Given the description of an element on the screen output the (x, y) to click on. 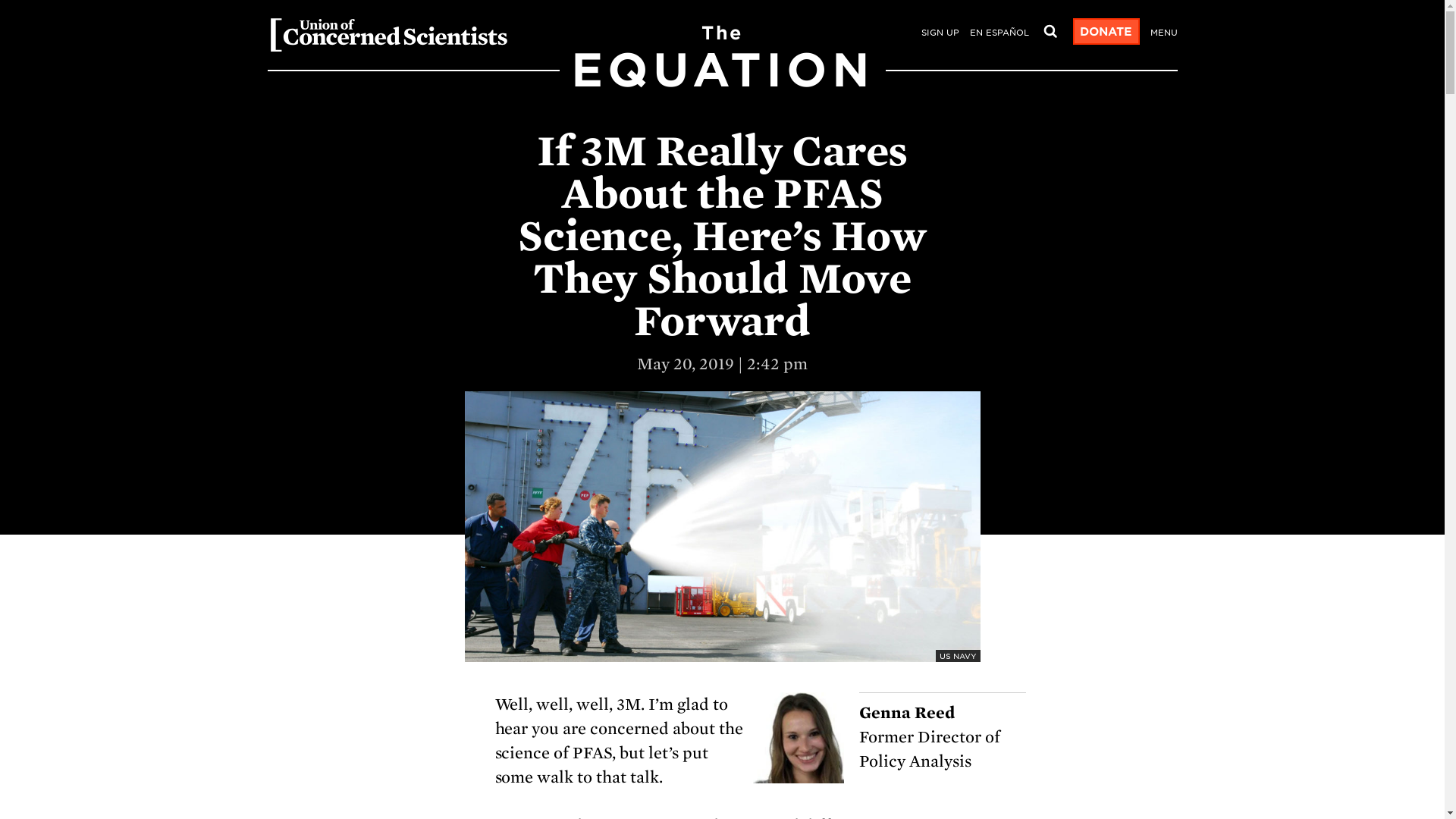
SIGN UP (939, 32)
DONATE (721, 80)
US NAVY (1104, 31)
